Given the description of an element on the screen output the (x, y) to click on. 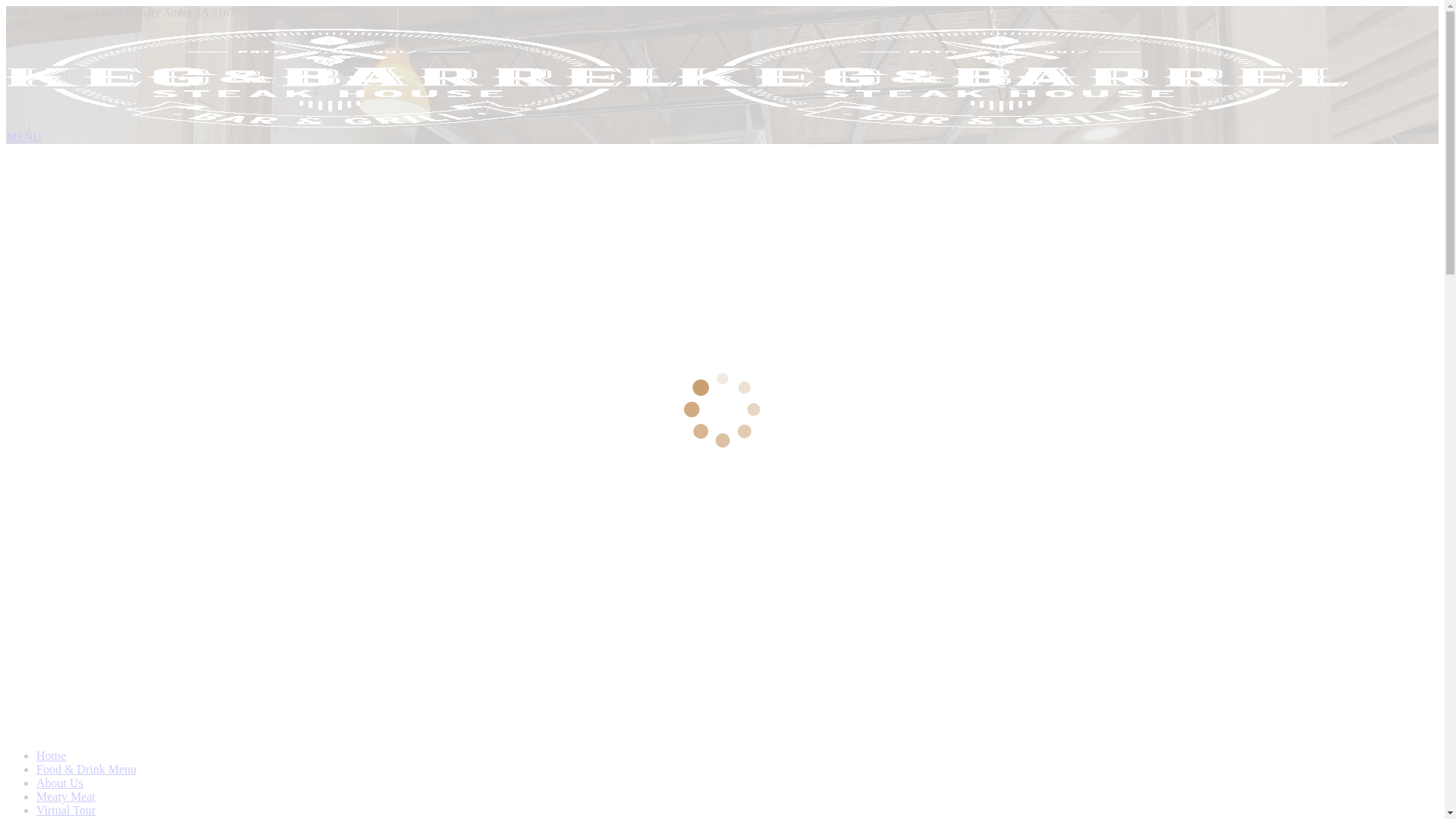
MENU Element type: text (23, 136)
Food & Drink Menu Element type: text (86, 768)
About Us Element type: text (59, 782)
Virtual Tour Element type: text (65, 809)
Meaty Meat Element type: text (65, 796)
Home Element type: text (50, 755)
